Given the description of an element on the screen output the (x, y) to click on. 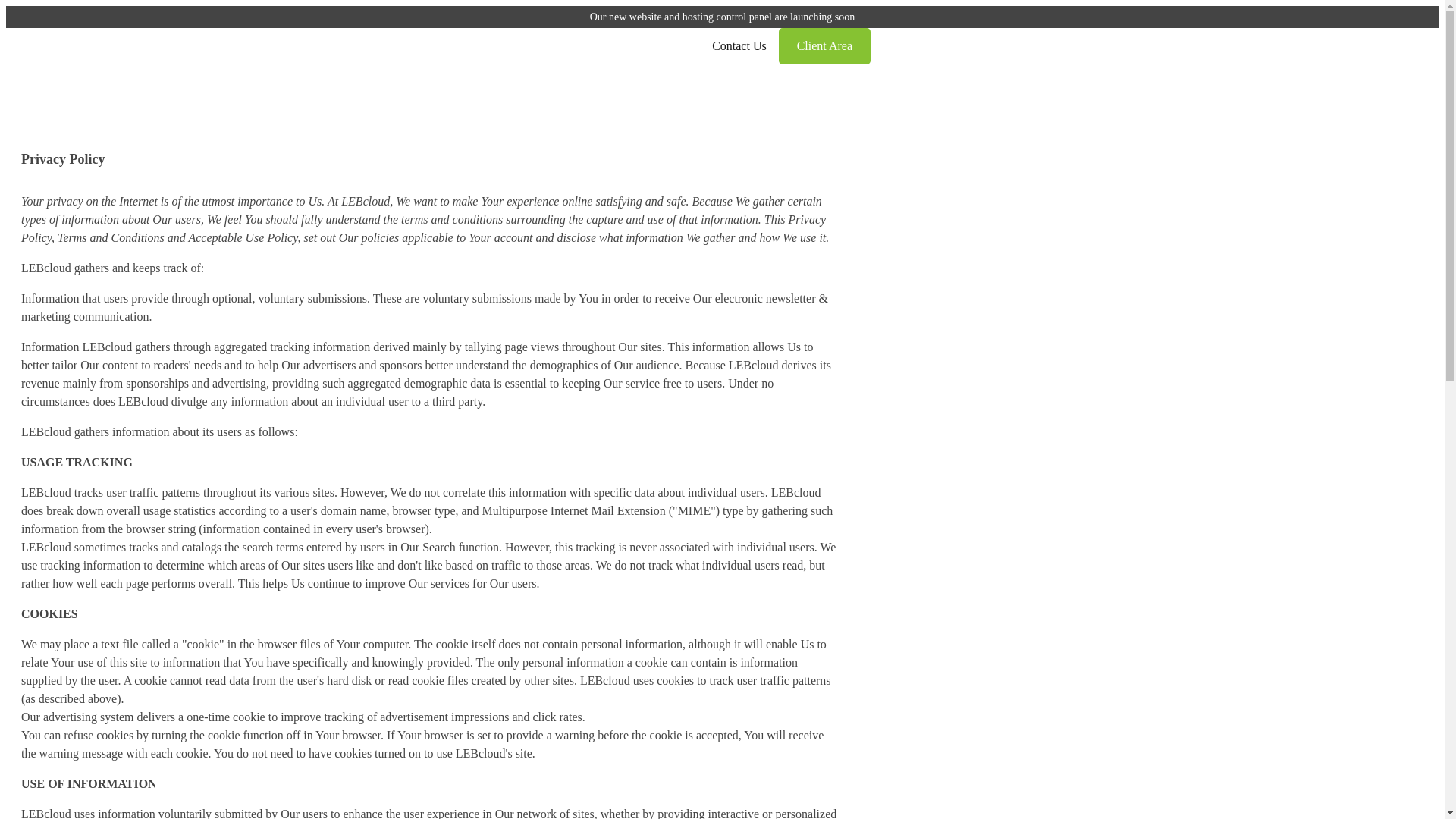
Contact Us (739, 45)
Client Area (842, 45)
